Given the description of an element on the screen output the (x, y) to click on. 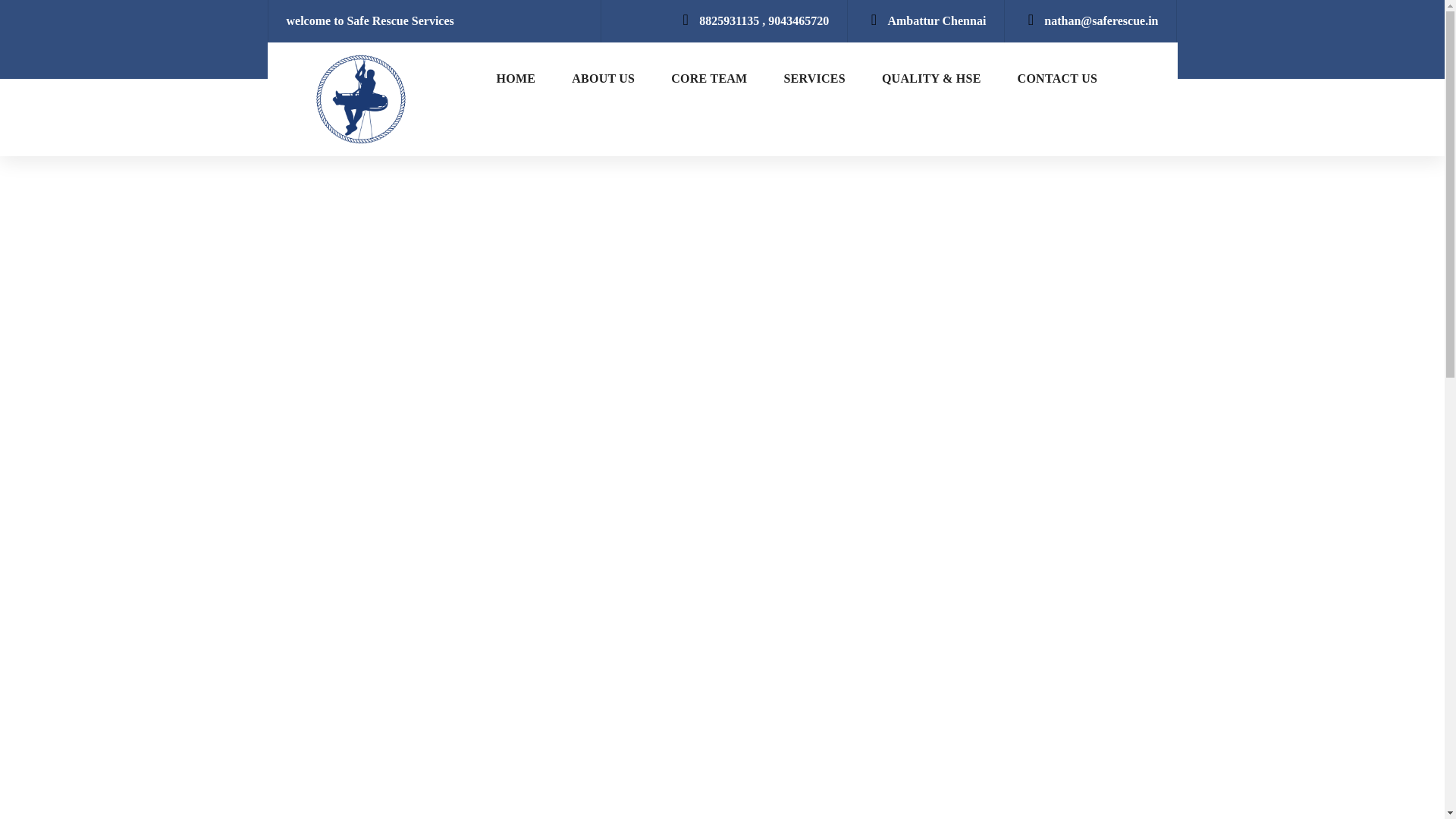
SAFE RESCUE (360, 99)
HOME (516, 78)
ABOUT US (602, 78)
SERVICES (814, 78)
CONTACT US (1056, 78)
CORE TEAM (708, 78)
